Given the description of an element on the screen output the (x, y) to click on. 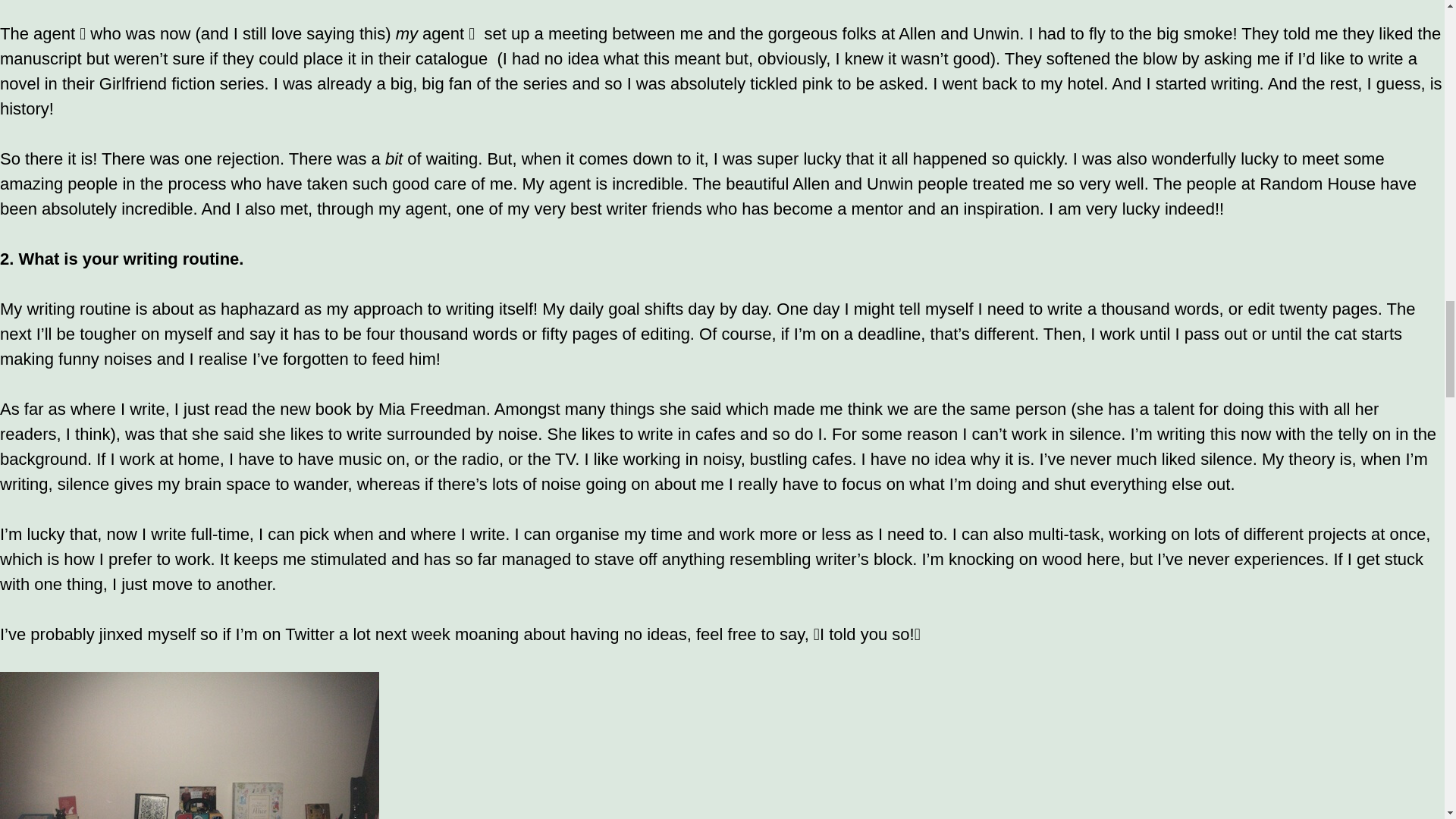
15 kate's room 1 (189, 745)
